Given the description of an element on the screen output the (x, y) to click on. 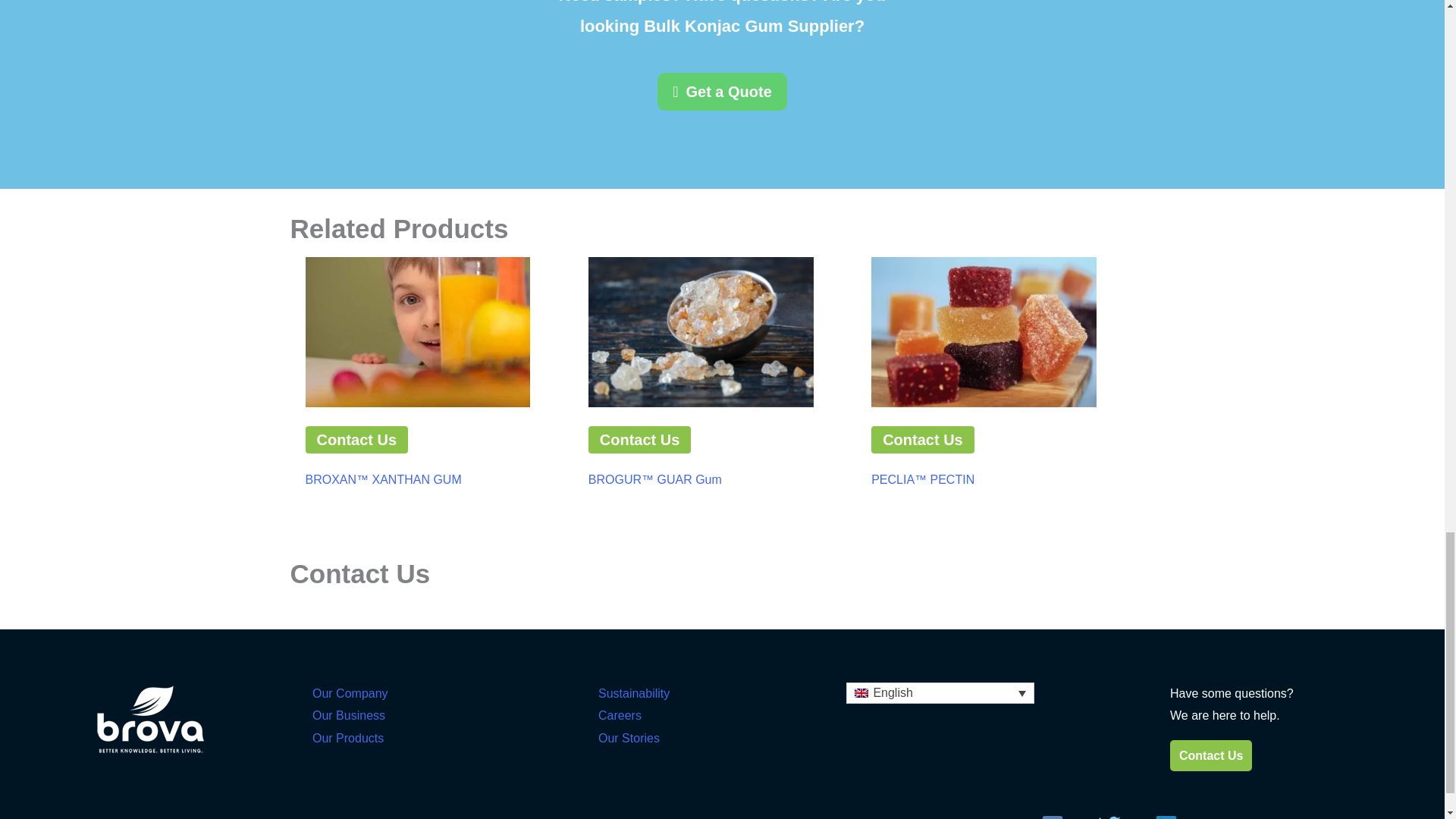
Contact Us (639, 439)
Contact Us (355, 439)
Get a Quote (722, 91)
Contact Us (922, 439)
